Given the description of an element on the screen output the (x, y) to click on. 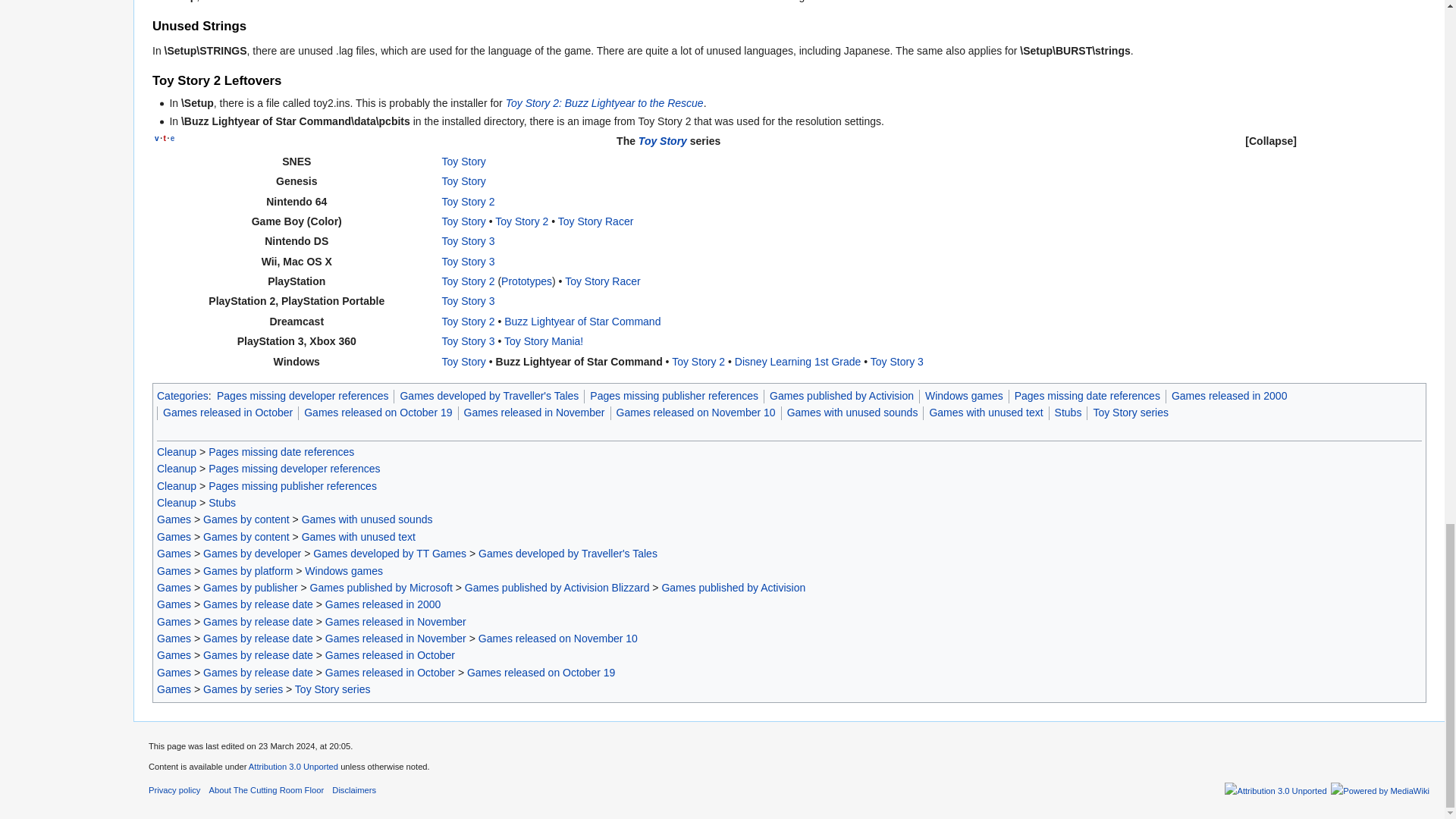
Toy Story 2 (468, 281)
Toy Story 2 (468, 201)
Toy Story 2 (521, 221)
Toy Story Racer (595, 221)
Toy Story 2: Buzz Lightyear to the Rescue (604, 102)
Toy Story 3 (468, 241)
Toy Story (462, 161)
Toy Story (462, 221)
Prototypes (525, 281)
Toy Story Racer (602, 281)
